Given the description of an element on the screen output the (x, y) to click on. 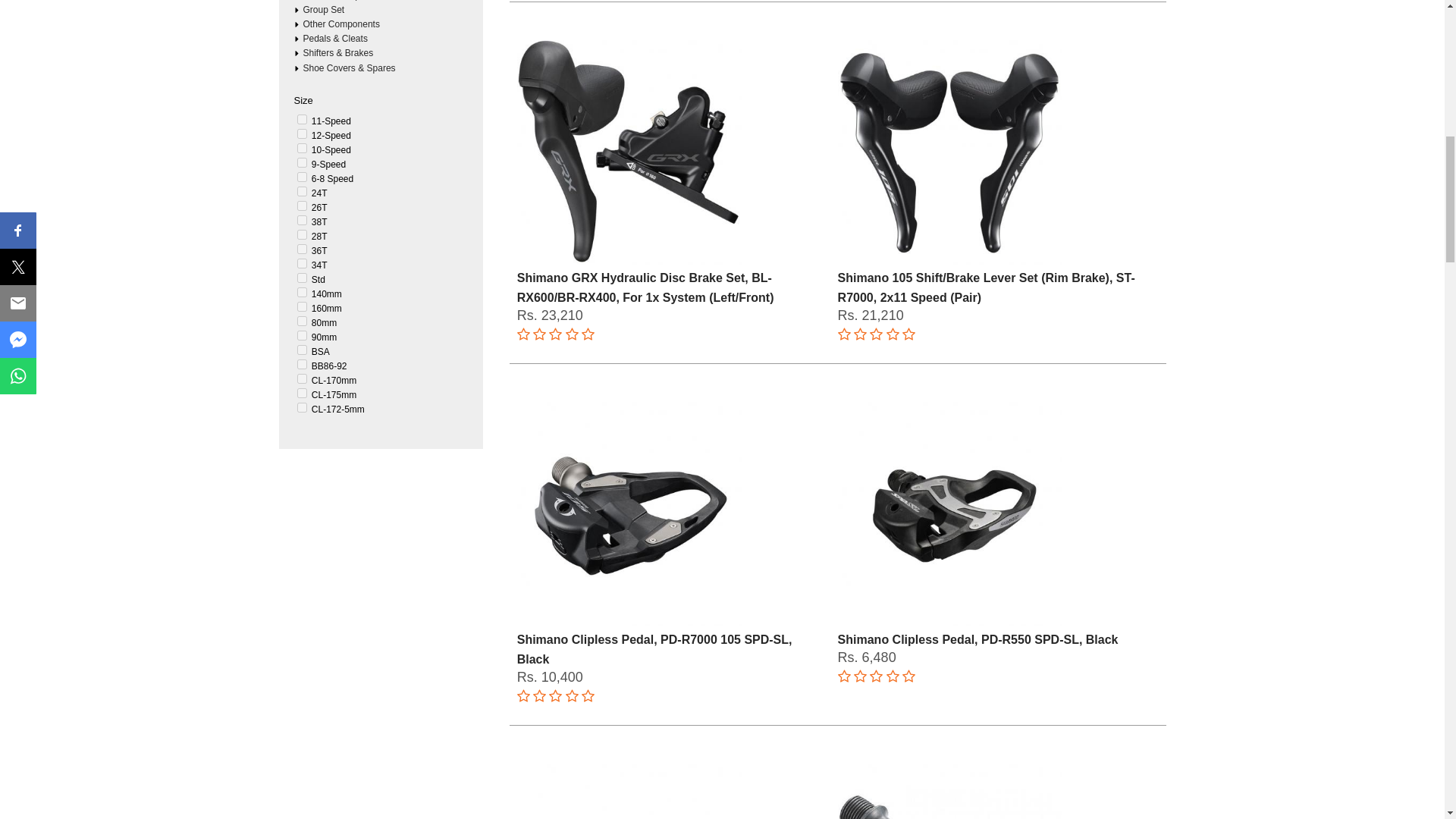
20 (302, 277)
192 (302, 292)
145 (302, 119)
57 (302, 234)
97 (302, 191)
147 (302, 148)
146 (302, 133)
60 (302, 263)
148 (302, 162)
98 (302, 205)
59 (302, 248)
149 (302, 176)
99 (302, 220)
